Given the description of an element on the screen output the (x, y) to click on. 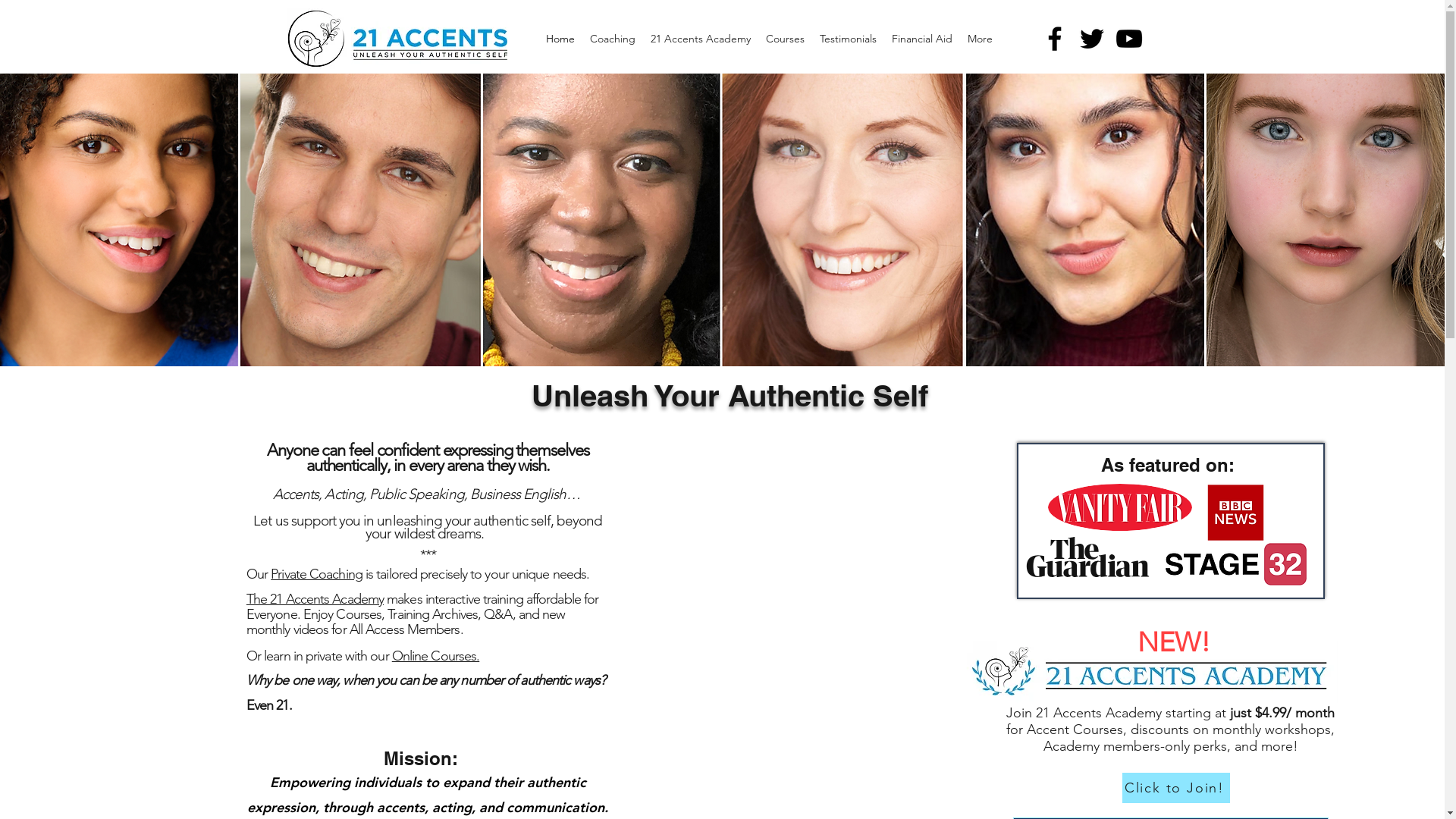
The 21 Accents Academy Element type: text (314, 598)
Financial Aid Element type: text (922, 38)
Online Courses. Element type: text (436, 655)
21 Accents Logo - side.jpeg Element type: hover (428, 42)
Private Coaching Element type: text (316, 573)
Testimonials Element type: text (848, 38)
Courses Element type: text (785, 38)
Coaching Element type: text (612, 38)
Click to Join! Element type: text (1176, 787)
Home Element type: text (560, 38)
21 Accents Academy Element type: text (700, 38)
